Given the description of an element on the screen output the (x, y) to click on. 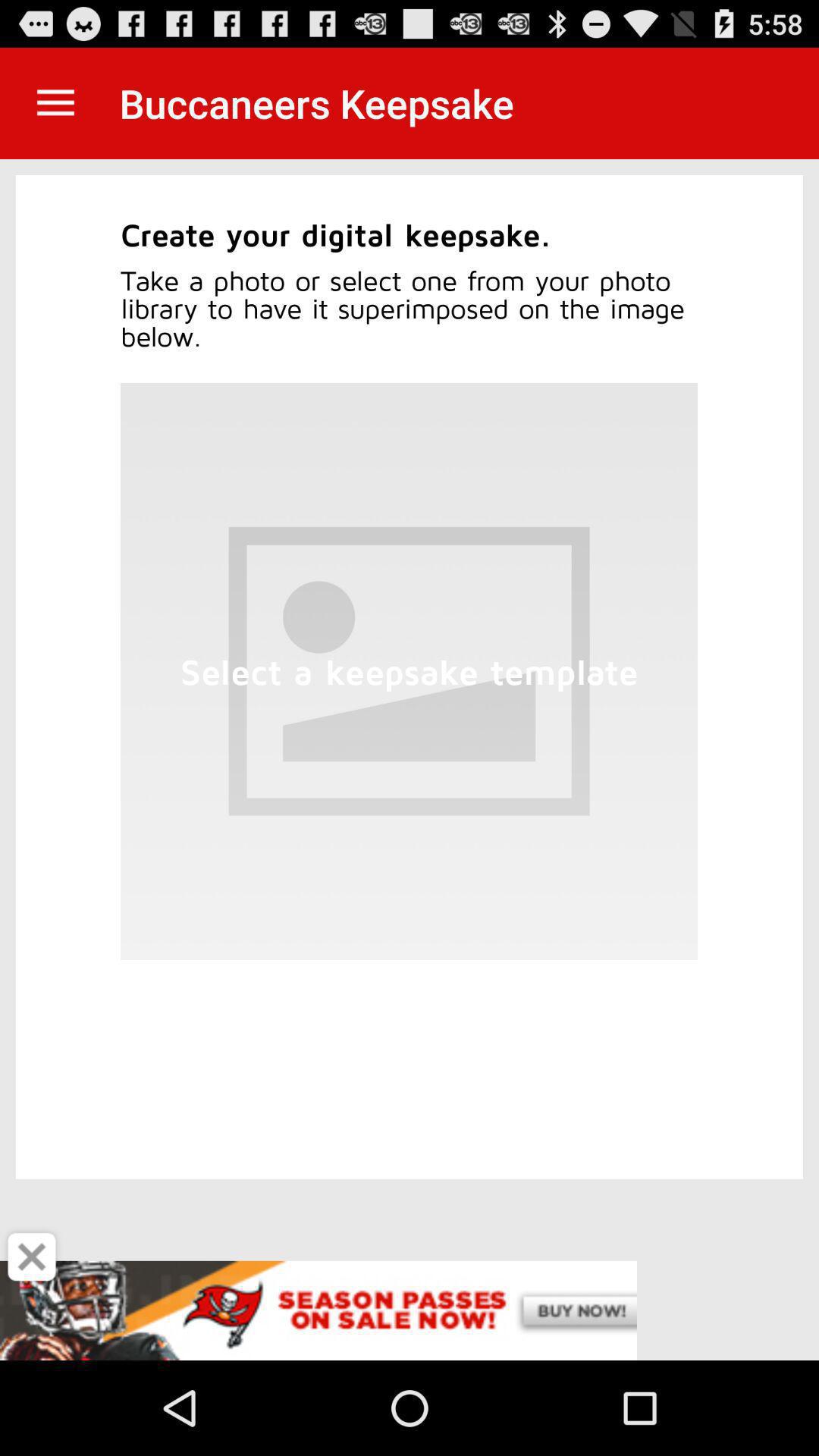
advertisements (409, 1310)
